Given the description of an element on the screen output the (x, y) to click on. 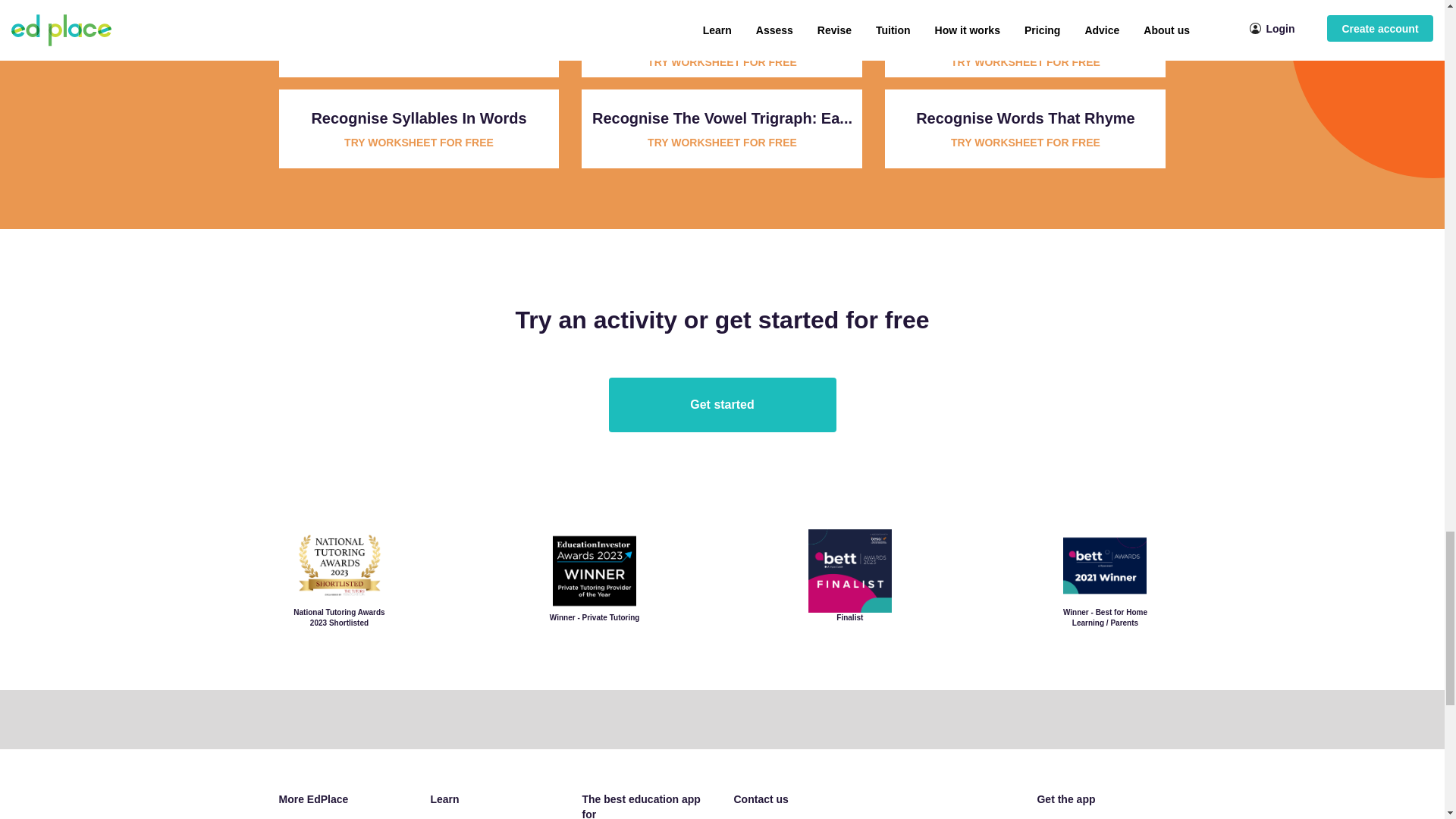
Get started (721, 404)
